Given the description of an element on the screen output the (x, y) to click on. 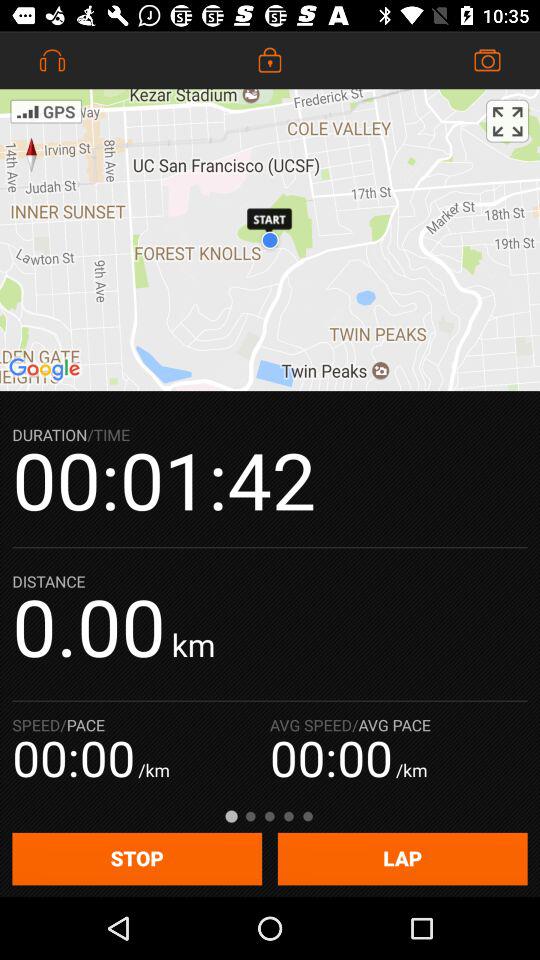
scroll to the lap item (402, 858)
